Given the description of an element on the screen output the (x, y) to click on. 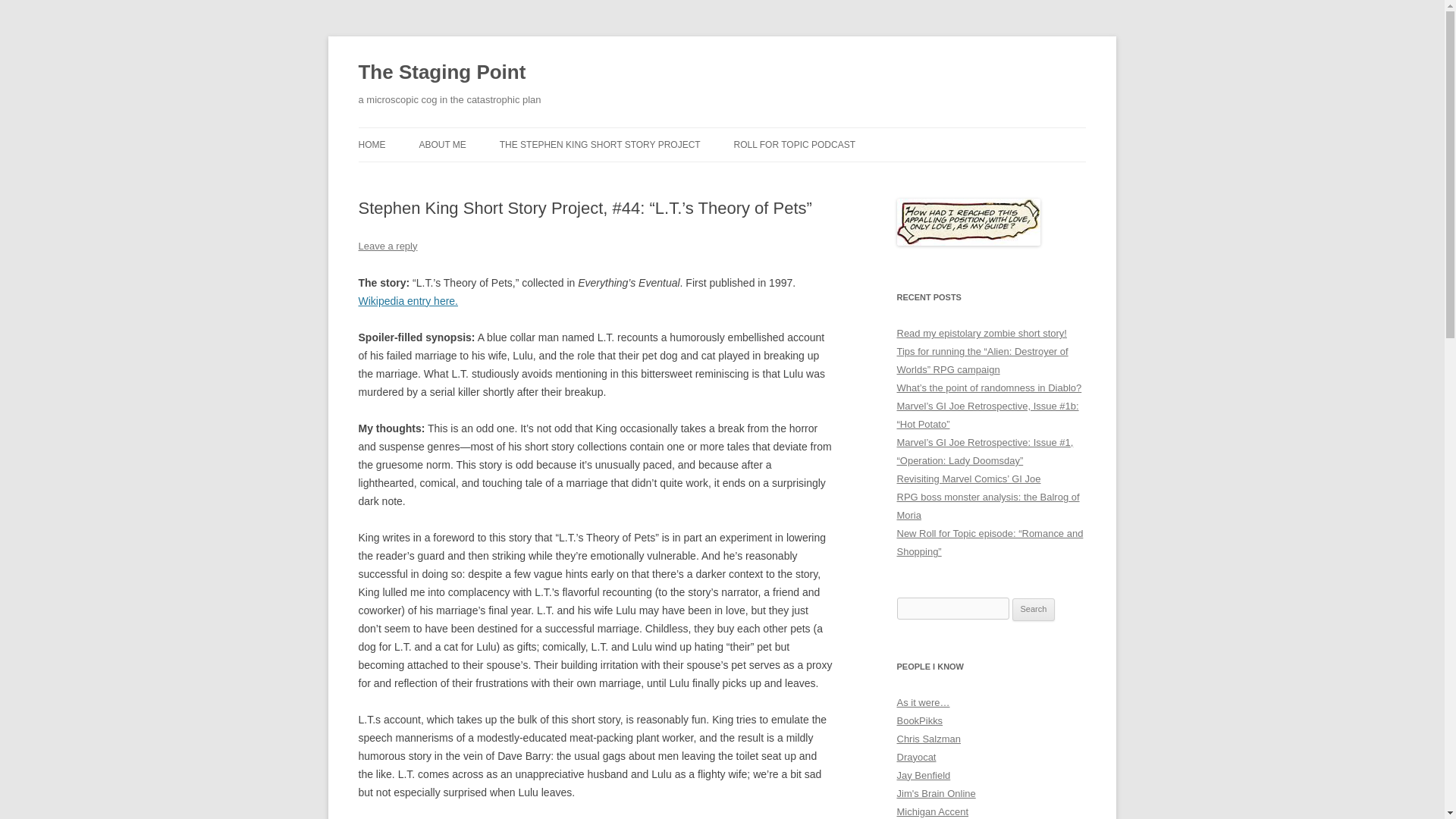
Search (1033, 609)
BookPikks (919, 720)
RPG boss monster analysis: the Balrog of Moria (987, 505)
ABOUT ME (442, 144)
The Staging Point (441, 72)
Search (1033, 609)
Leave a reply (387, 245)
ROLL FOR TOPIC PODCAST (794, 144)
Read my epistolary zombie short story! (980, 333)
